Given the description of an element on the screen output the (x, y) to click on. 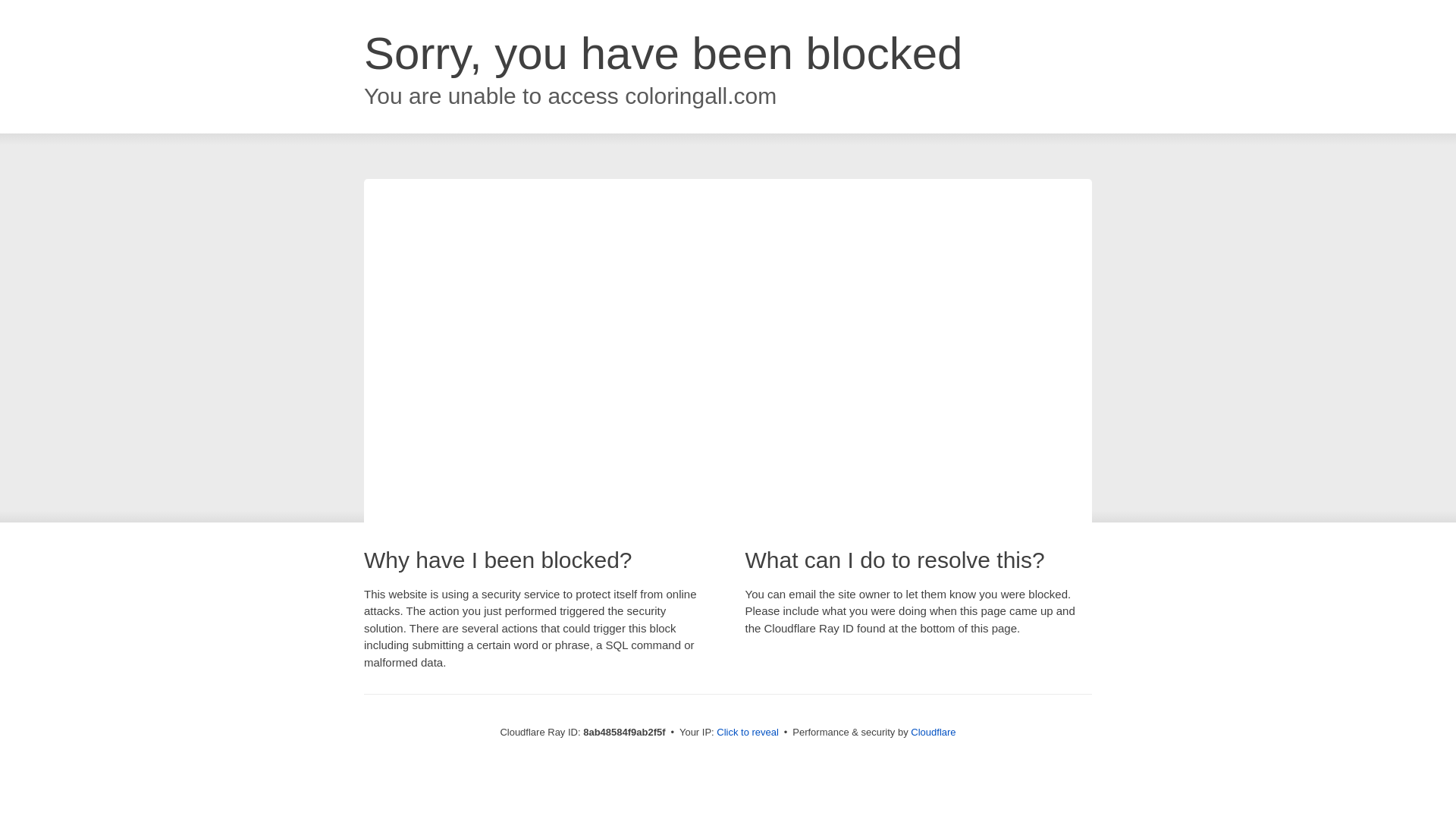
Cloudflare (933, 731)
Click to reveal (747, 732)
